Given the description of an element on the screen output the (x, y) to click on. 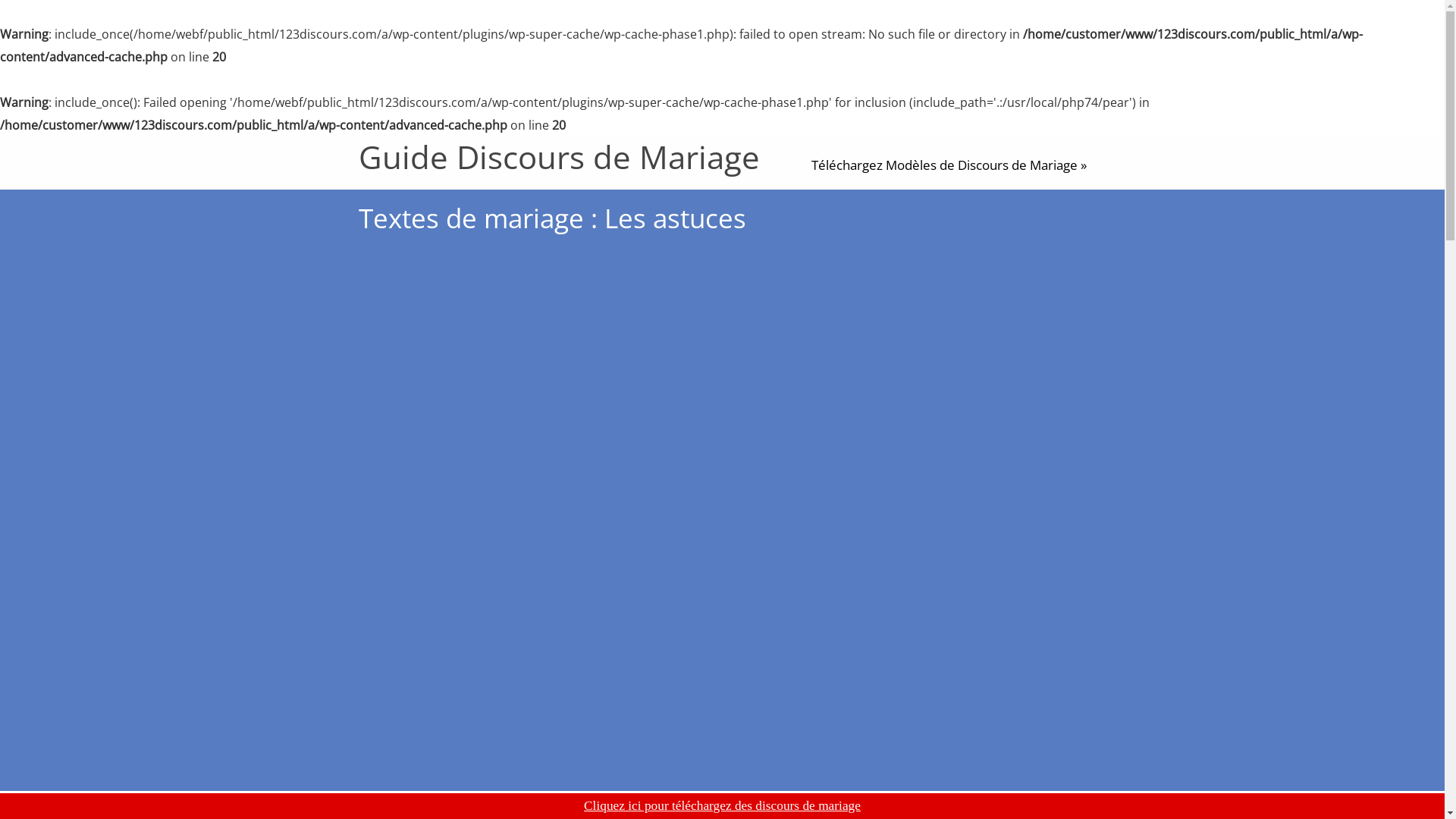
Guide Discours de Mariage Element type: text (558, 156)
